Given the description of an element on the screen output the (x, y) to click on. 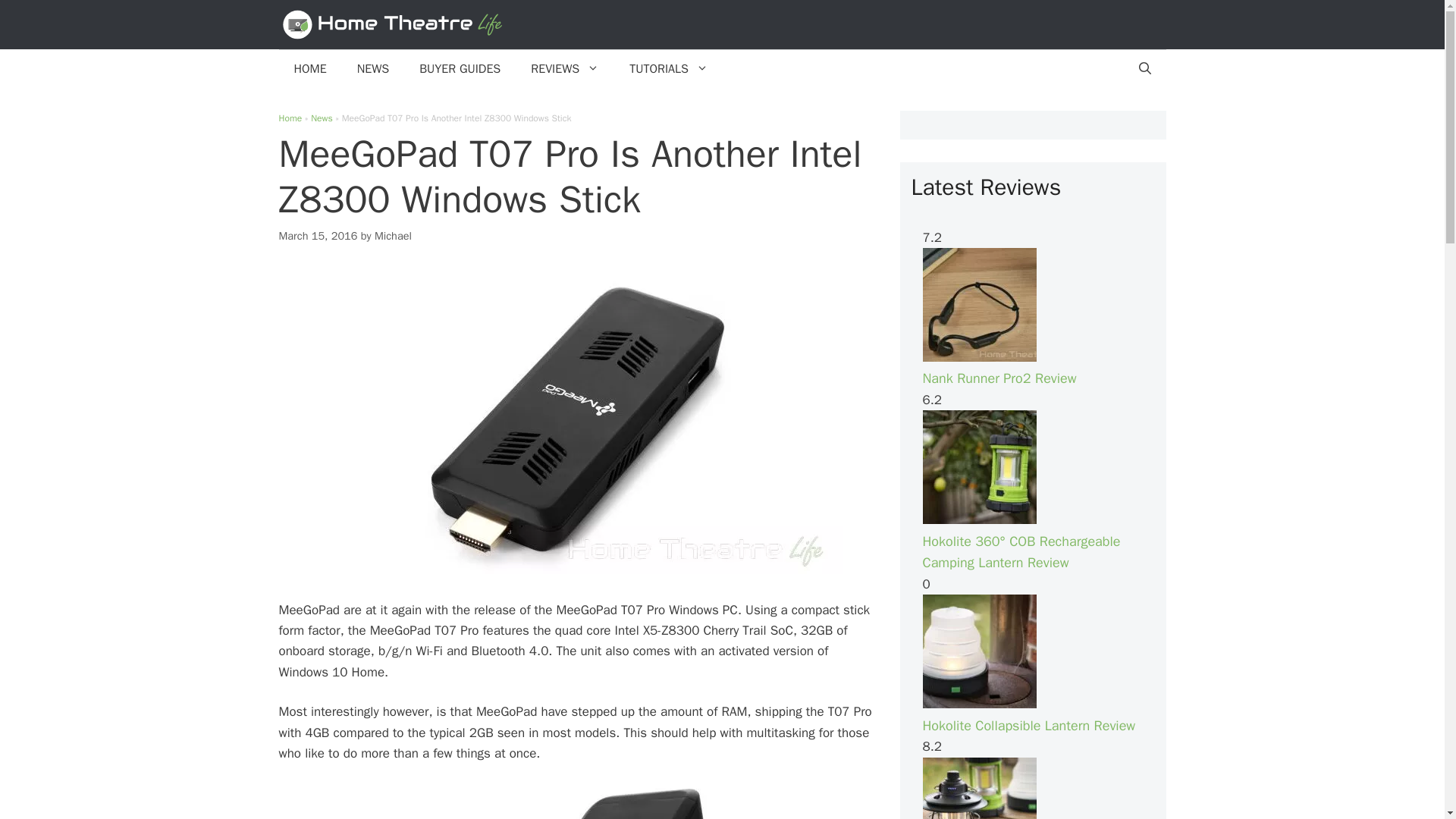
Michael (393, 235)
Home (290, 118)
NEWS (373, 68)
View all posts by Michael (393, 235)
News (322, 118)
Tutorials (668, 68)
REVIEWS (564, 68)
HOME (310, 68)
Product Reviews (564, 68)
BUYER GUIDES (459, 68)
